Given the description of an element on the screen output the (x, y) to click on. 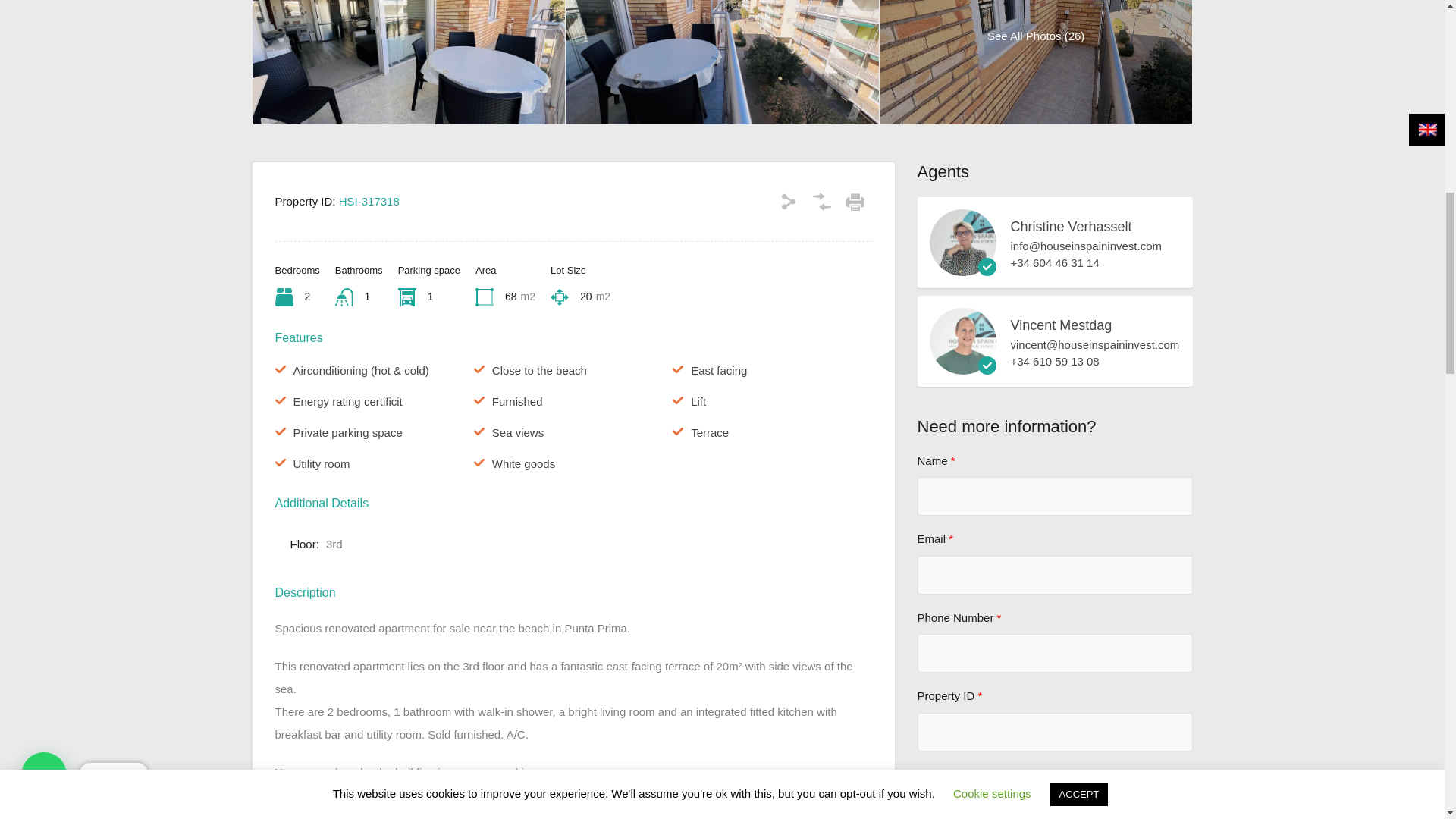
Christine Verhasselt (962, 268)
Vincent Mestdag (962, 367)
